Given the description of an element on the screen output the (x, y) to click on. 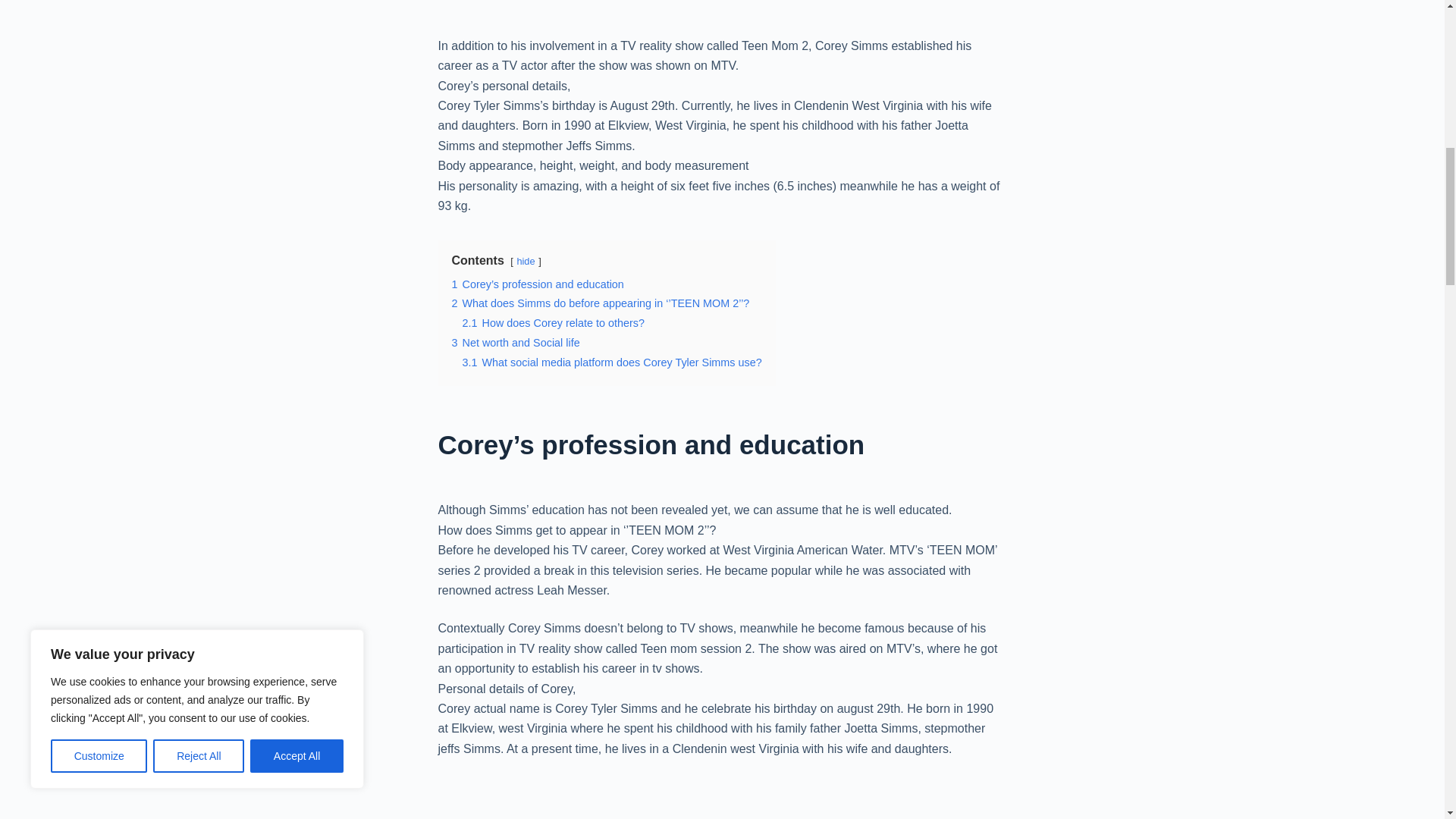
hide (525, 260)
